Given the description of an element on the screen output the (x, y) to click on. 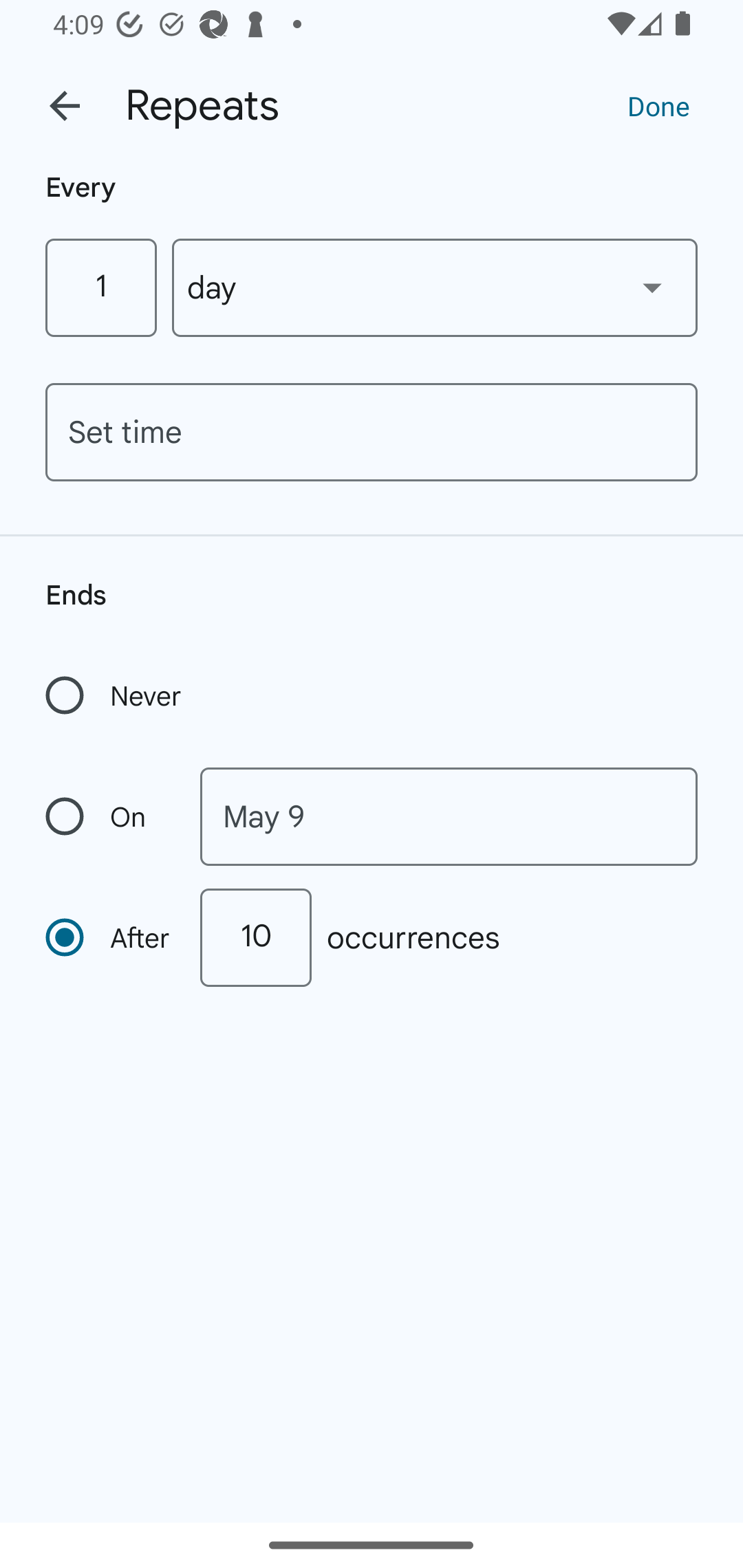
Back (64, 105)
Done (658, 105)
1 (100, 287)
day (434, 287)
Show dropdown menu (652, 286)
Set time (371, 431)
Never Recurrence never ends (115, 695)
May 9 (448, 815)
On Recurrence ends on a specific date (109, 815)
10 (255, 937)
